Given the description of an element on the screen output the (x, y) to click on. 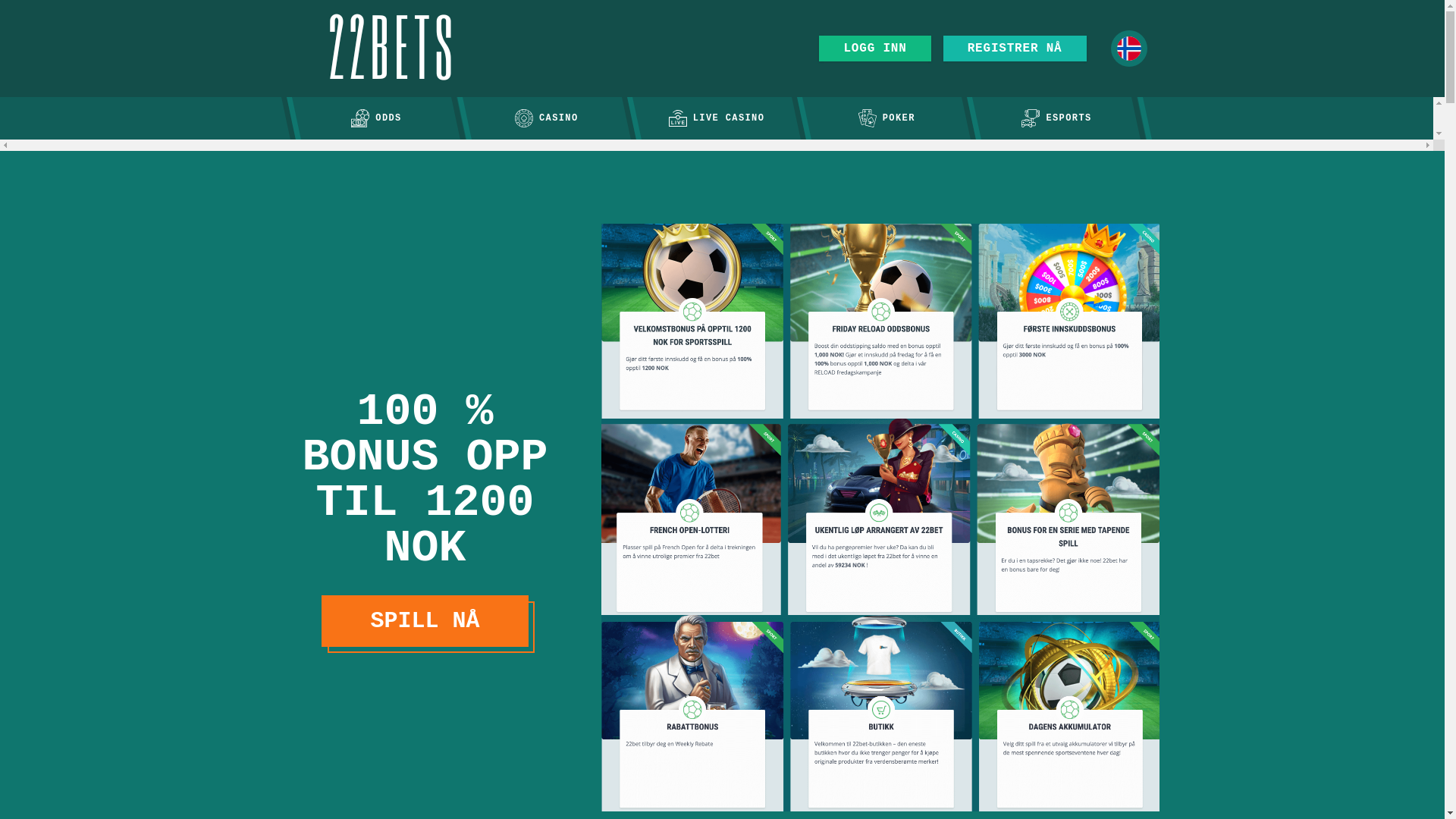
LOGG INN Element type: text (874, 48)
